Given the description of an element on the screen output the (x, y) to click on. 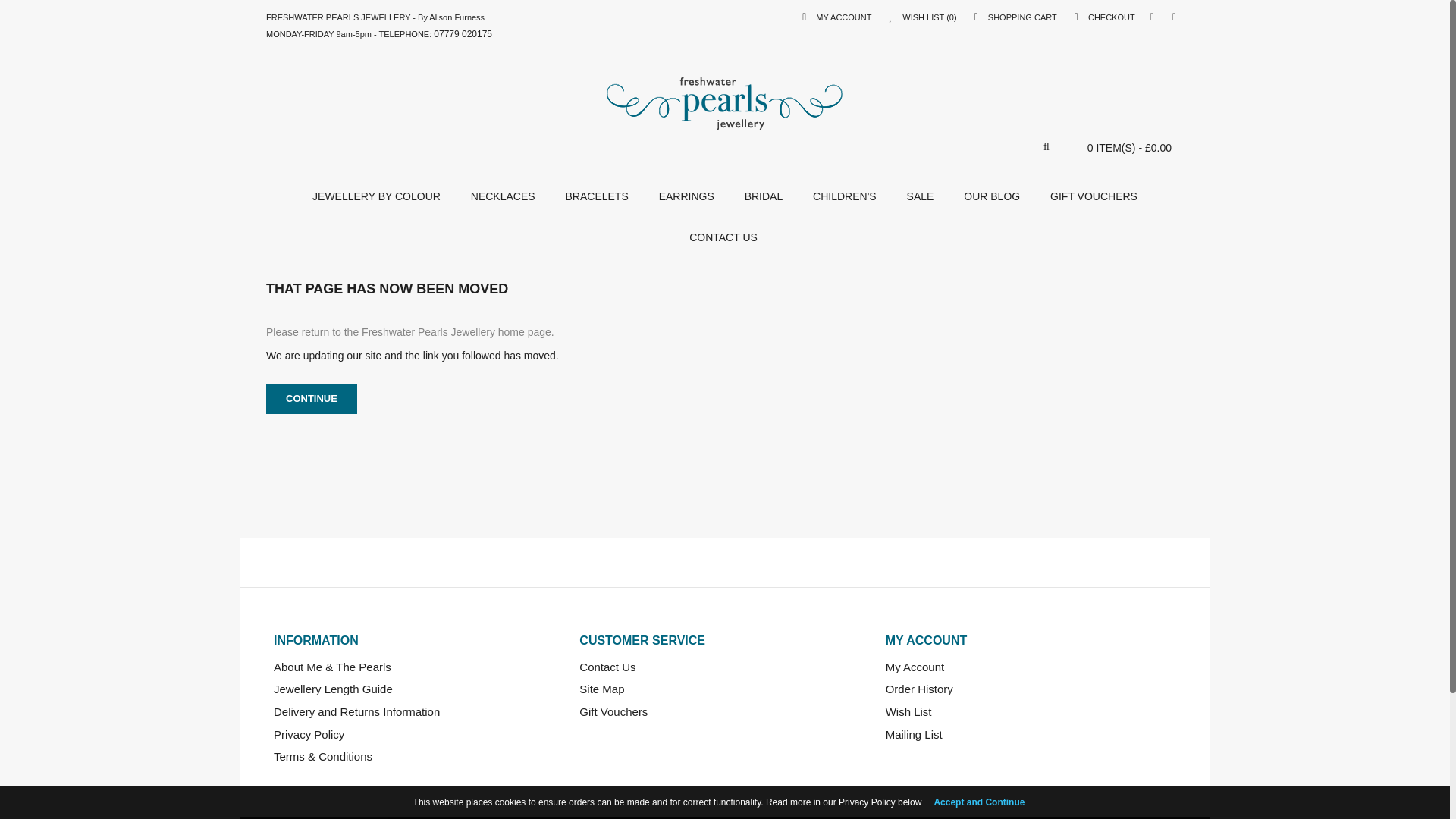
SHOPPING CART (1015, 17)
Shopping Cart (1015, 17)
BRACELETS (596, 195)
Checkout (1104, 17)
CHECKOUT (1104, 17)
07779 020175 (462, 33)
Facebook (1152, 17)
Freshwater Pearls Jewellery - by Alison Furness (724, 100)
My Account (836, 17)
NECKLACES (502, 195)
JEWELLERY BY COLOUR (376, 195)
Instagram (1174, 17)
MY ACCOUNT (836, 17)
